Given the description of an element on the screen output the (x, y) to click on. 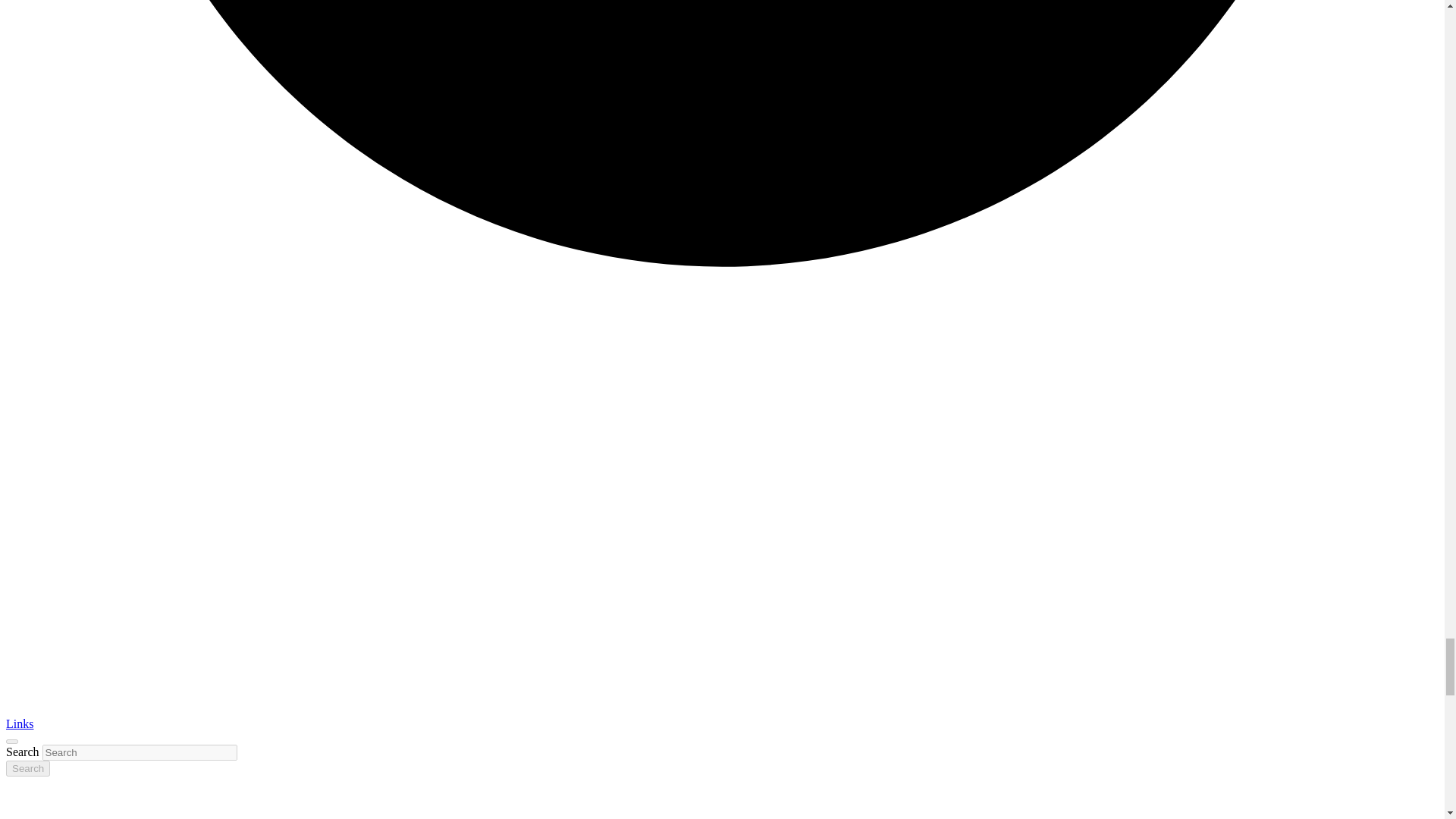
Links (19, 723)
Search (27, 768)
